Given the description of an element on the screen output the (x, y) to click on. 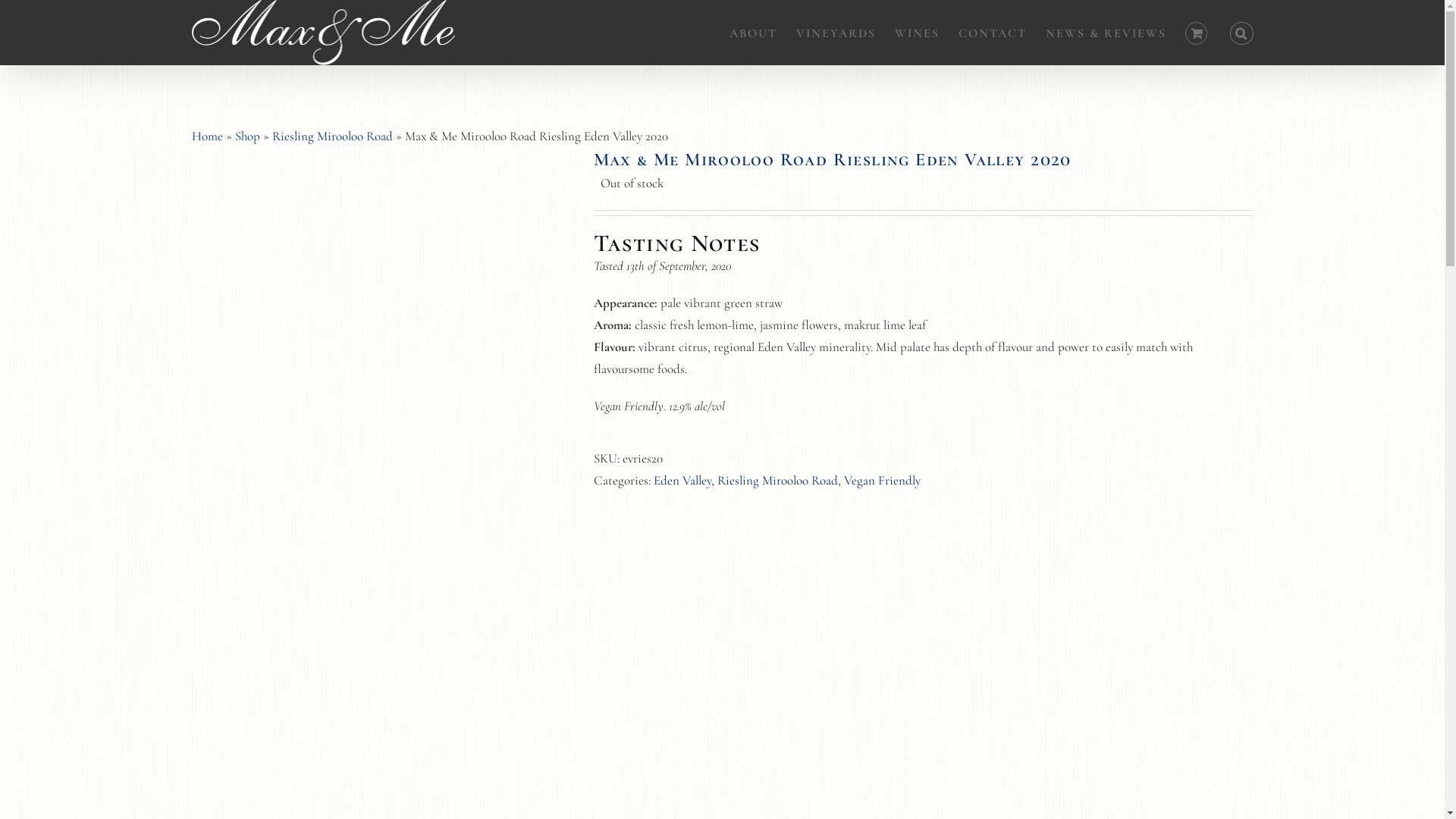
ABOUT Element type: text (753, 31)
Shop Element type: text (247, 135)
NEWS & REVIEWS Element type: text (1105, 31)
WINES Element type: text (916, 31)
Search Element type: hover (1241, 31)
Riesling Mirooloo Road Element type: text (331, 135)
VINEYARDS Element type: text (835, 31)
Eden Valley Element type: text (682, 480)
Riesling Mirooloo Road Element type: text (777, 480)
Home Element type: text (206, 135)
Vegan Friendly Element type: text (881, 480)
CONTACT Element type: text (992, 31)
